Given the description of an element on the screen output the (x, y) to click on. 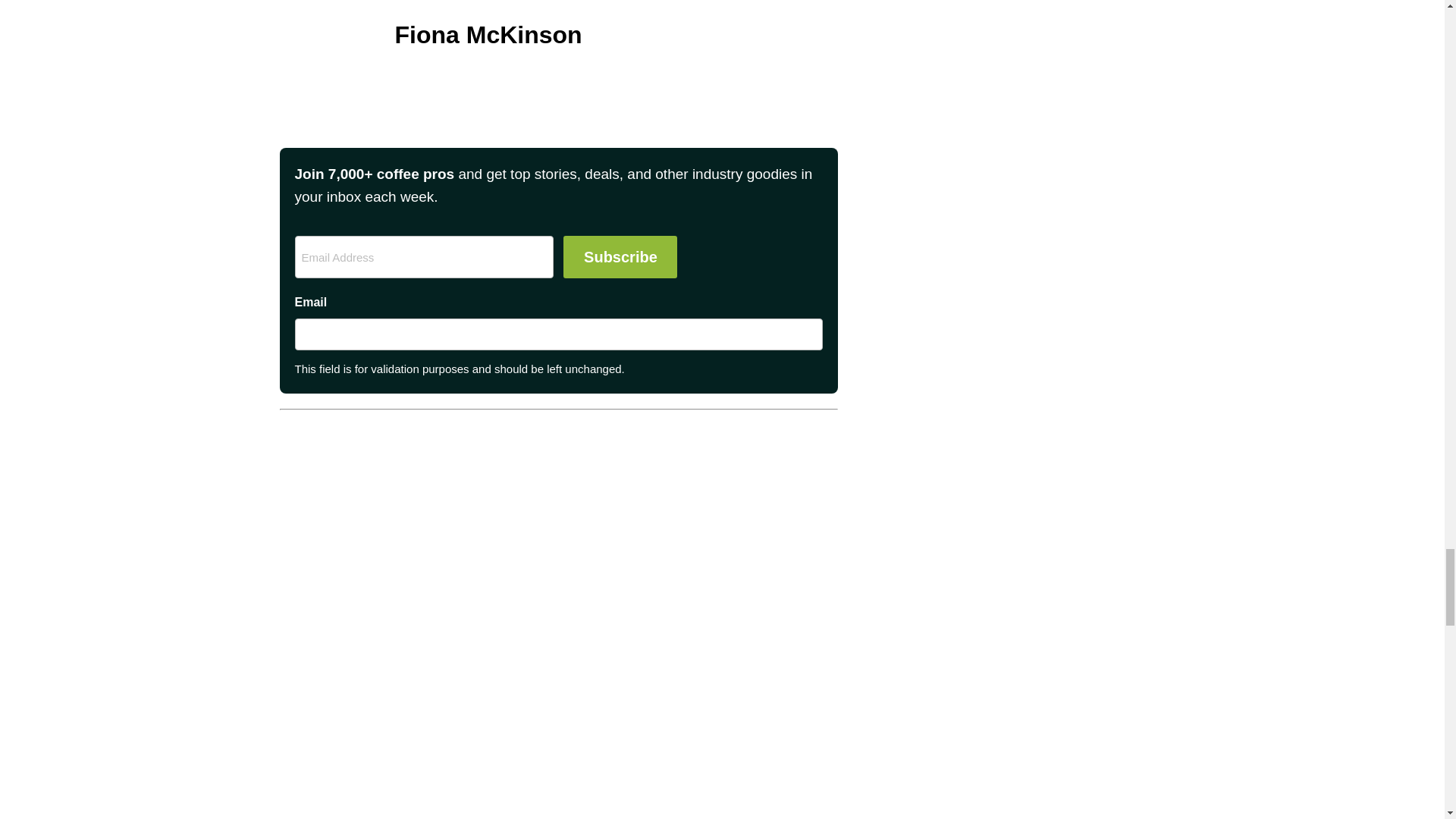
Subscribe (620, 256)
